Given the description of an element on the screen output the (x, y) to click on. 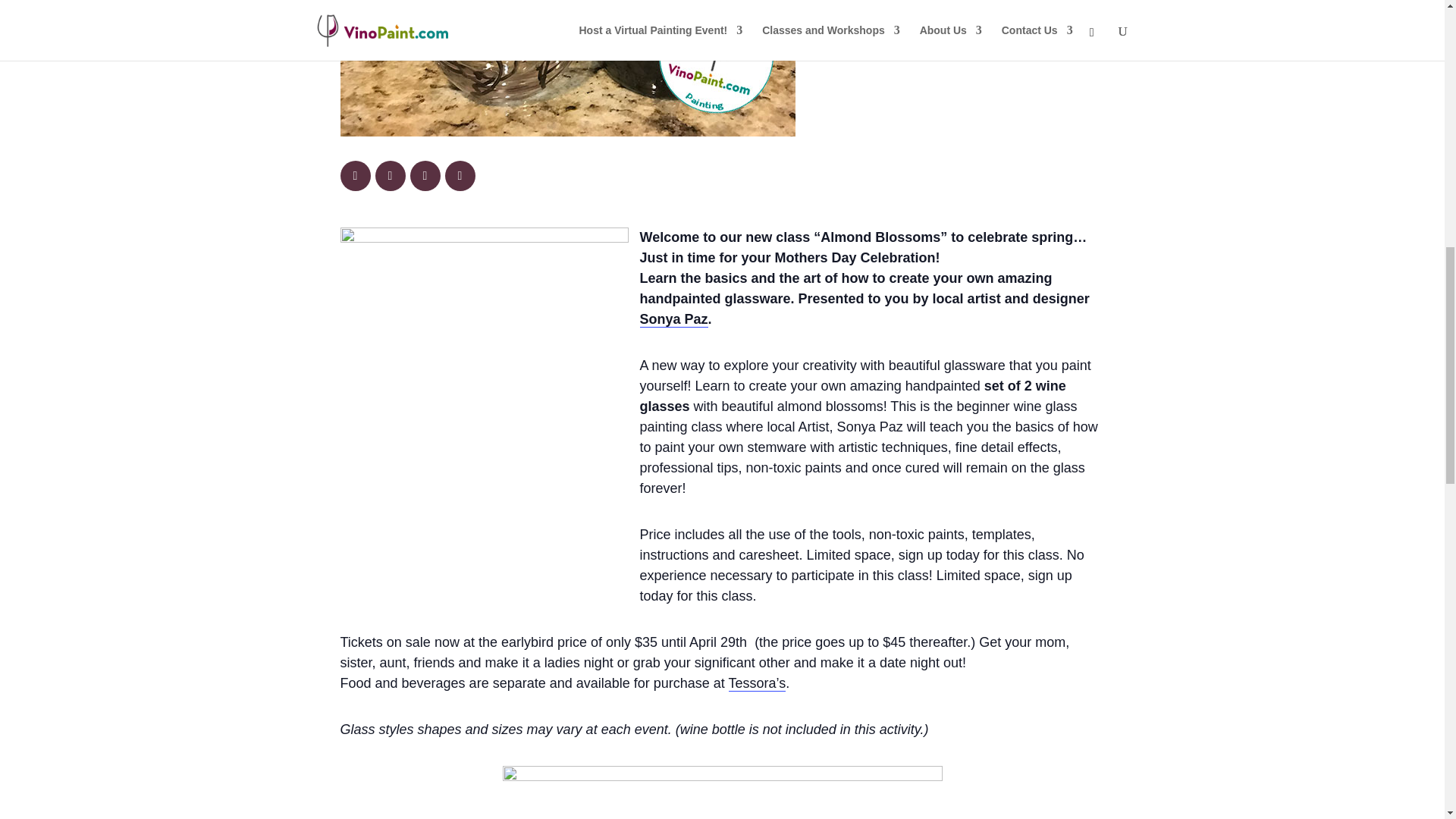
Sonya Paz (673, 319)
